Given the description of an element on the screen output the (x, y) to click on. 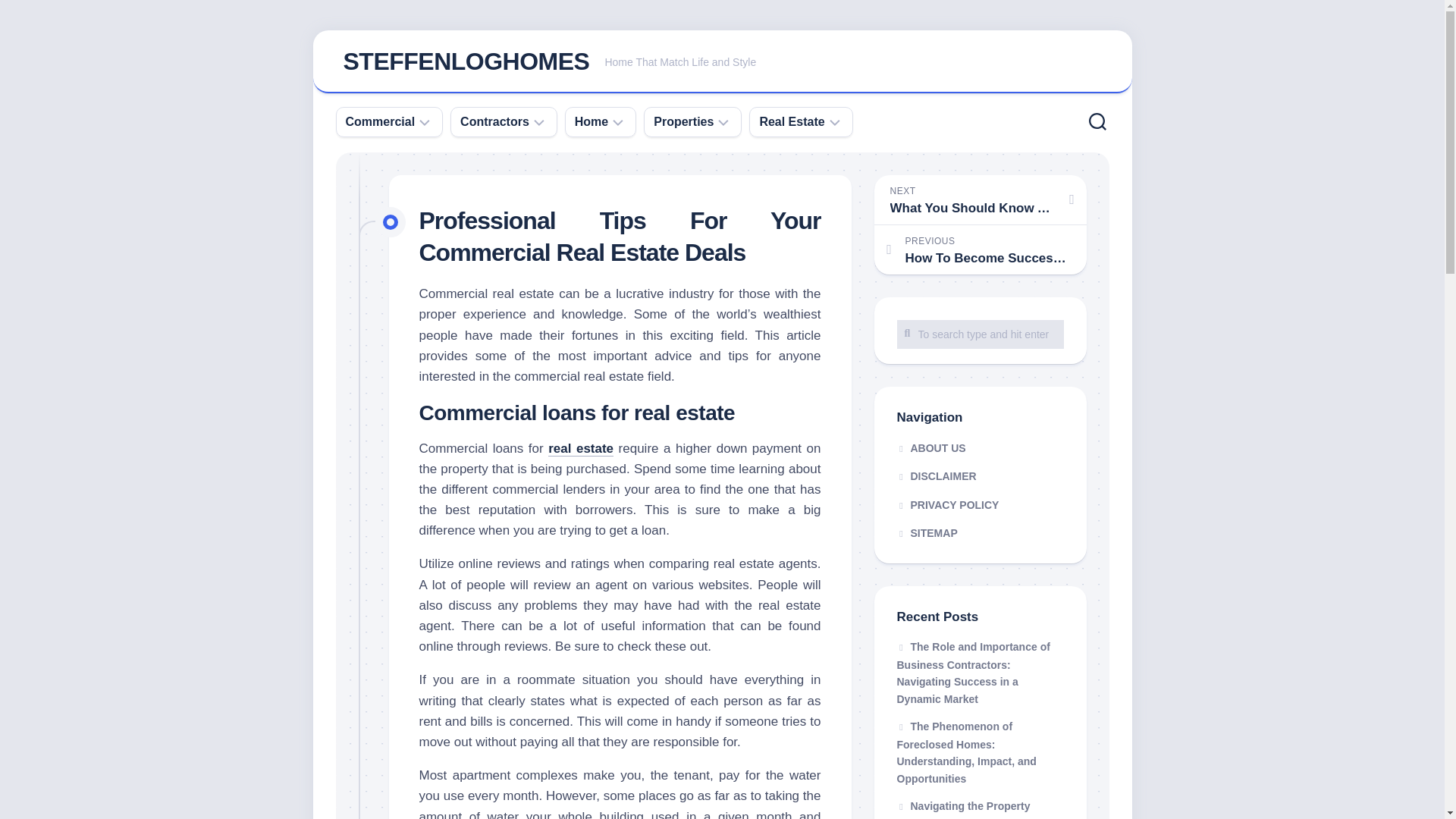
Contractors (494, 121)
To search type and hit enter (979, 334)
To search type and hit enter (979, 334)
real estate (580, 448)
Home (591, 121)
Commercial (380, 121)
Real Estate (722, 62)
Properties (791, 121)
STEFFENLOGHOMES (683, 121)
